Given the description of an element on the screen output the (x, y) to click on. 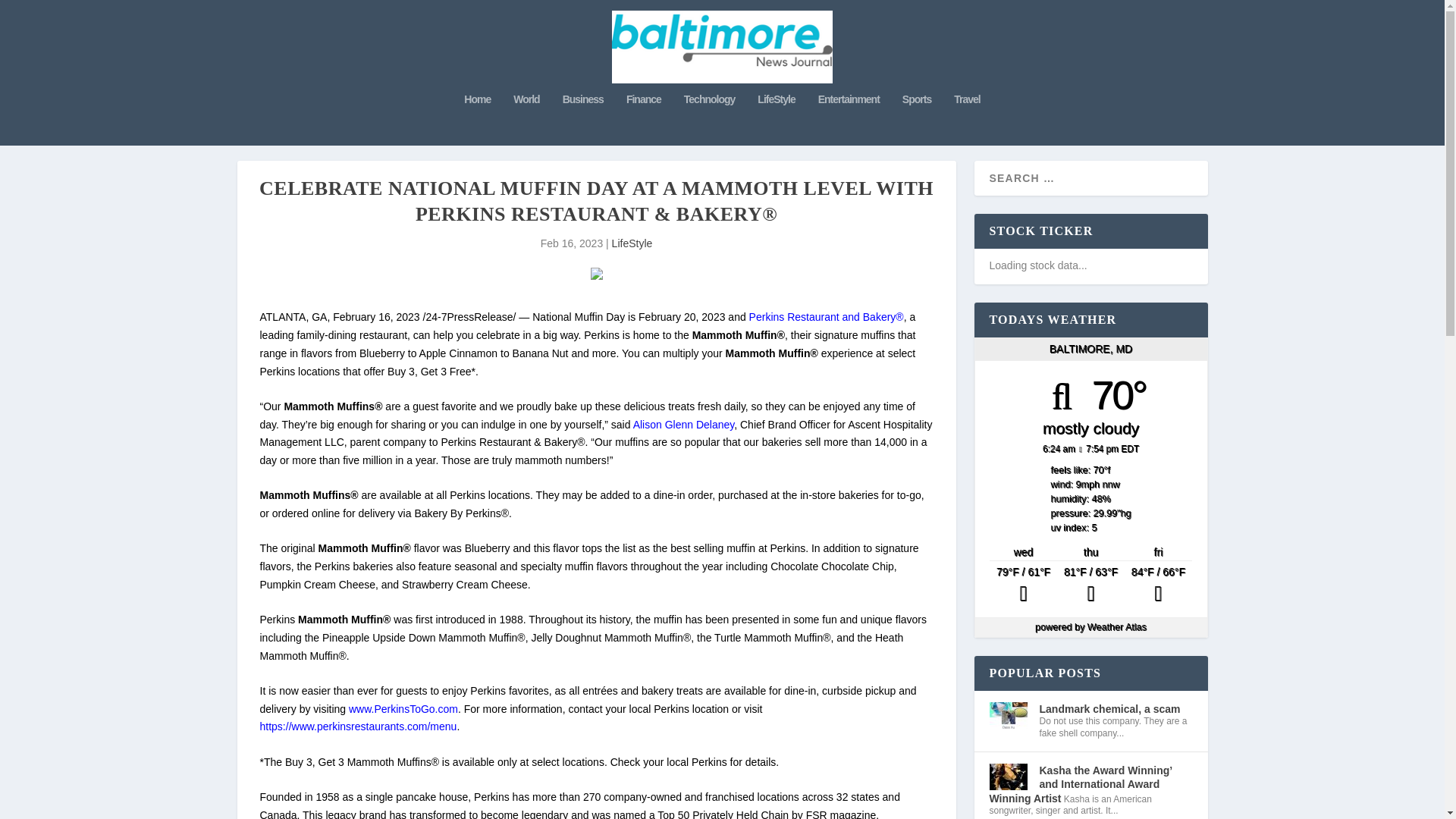
www.PerkinsToGo.com (403, 708)
Mostly Sunny (1090, 585)
Entertainment (848, 119)
Alison Glenn Delaney (684, 424)
Search (31, 13)
Mostly Sunny (1158, 585)
LifeStyle (631, 243)
Technology (709, 119)
Mostly Sunny (1023, 585)
